Given the description of an element on the screen output the (x, y) to click on. 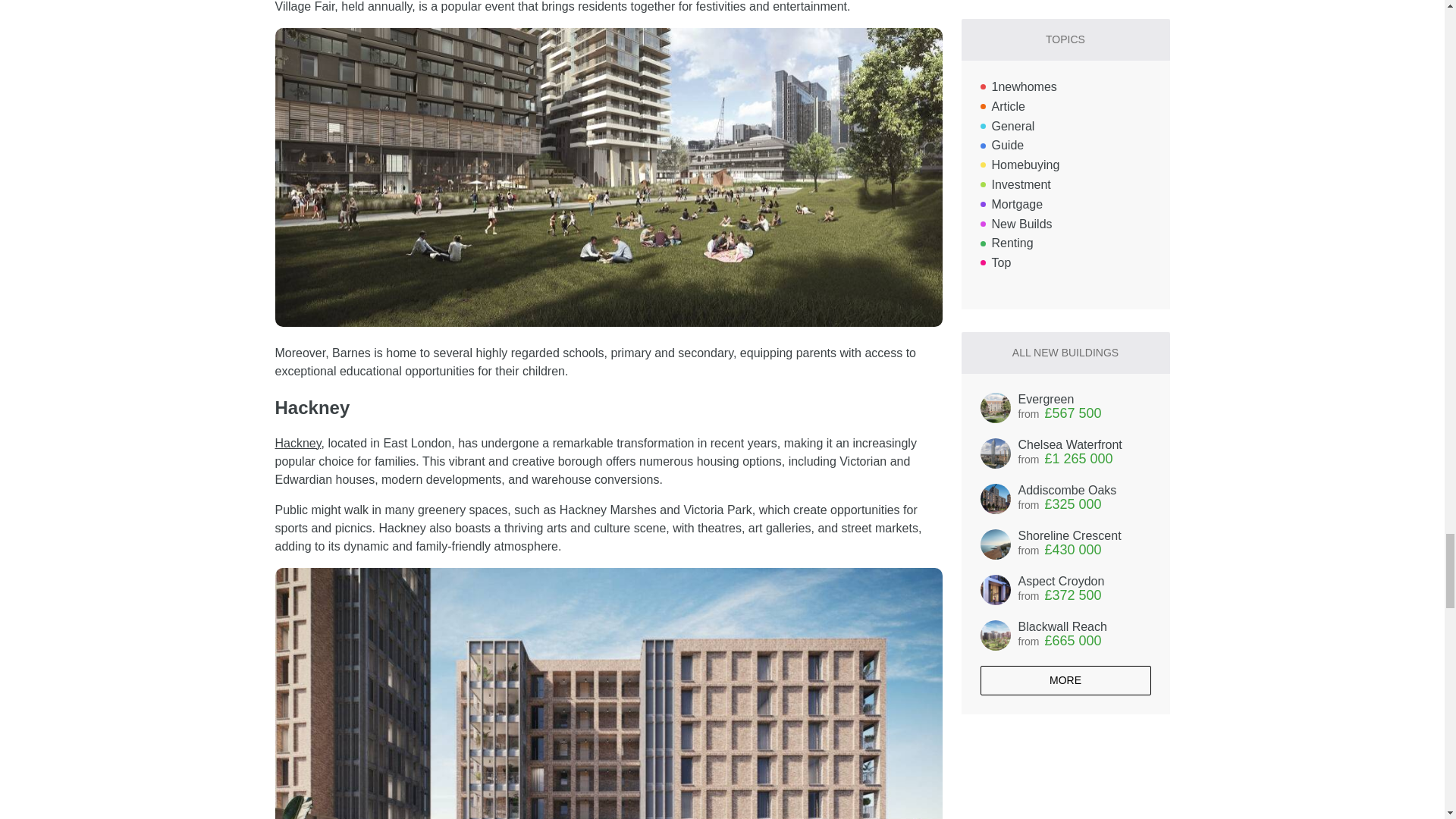
Hackney Offers Bunch Of New Homes (297, 442)
Hackney (297, 442)
